Given the description of an element on the screen output the (x, y) to click on. 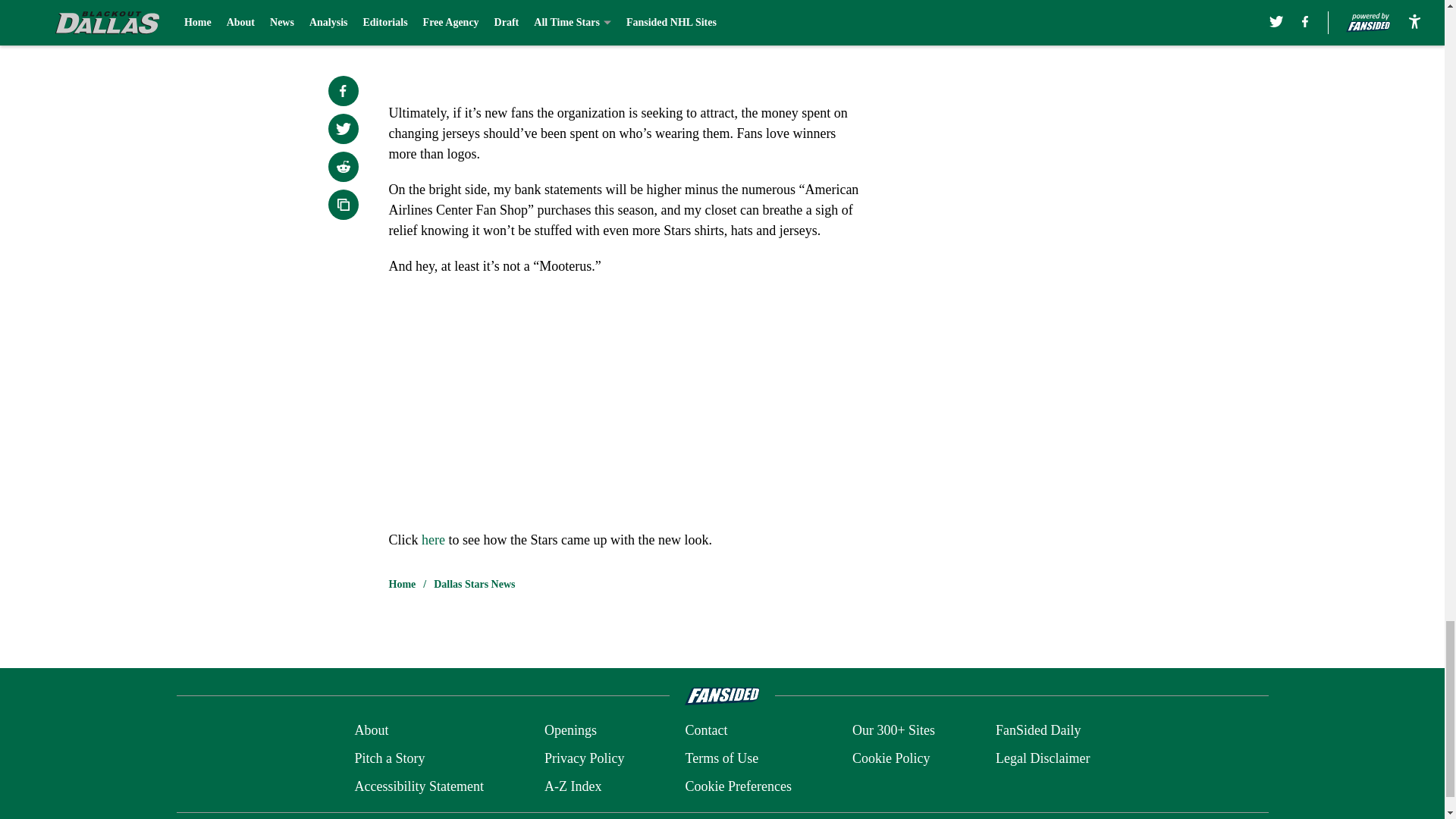
Contact (705, 730)
Accessibility Statement (418, 786)
Openings (570, 730)
Legal Disclaimer (1042, 758)
Pitch a Story (389, 758)
Dallas Stars News (474, 584)
Privacy Policy (584, 758)
here (433, 539)
About (370, 730)
FanSided Daily (1038, 730)
